Given the description of an element on the screen output the (x, y) to click on. 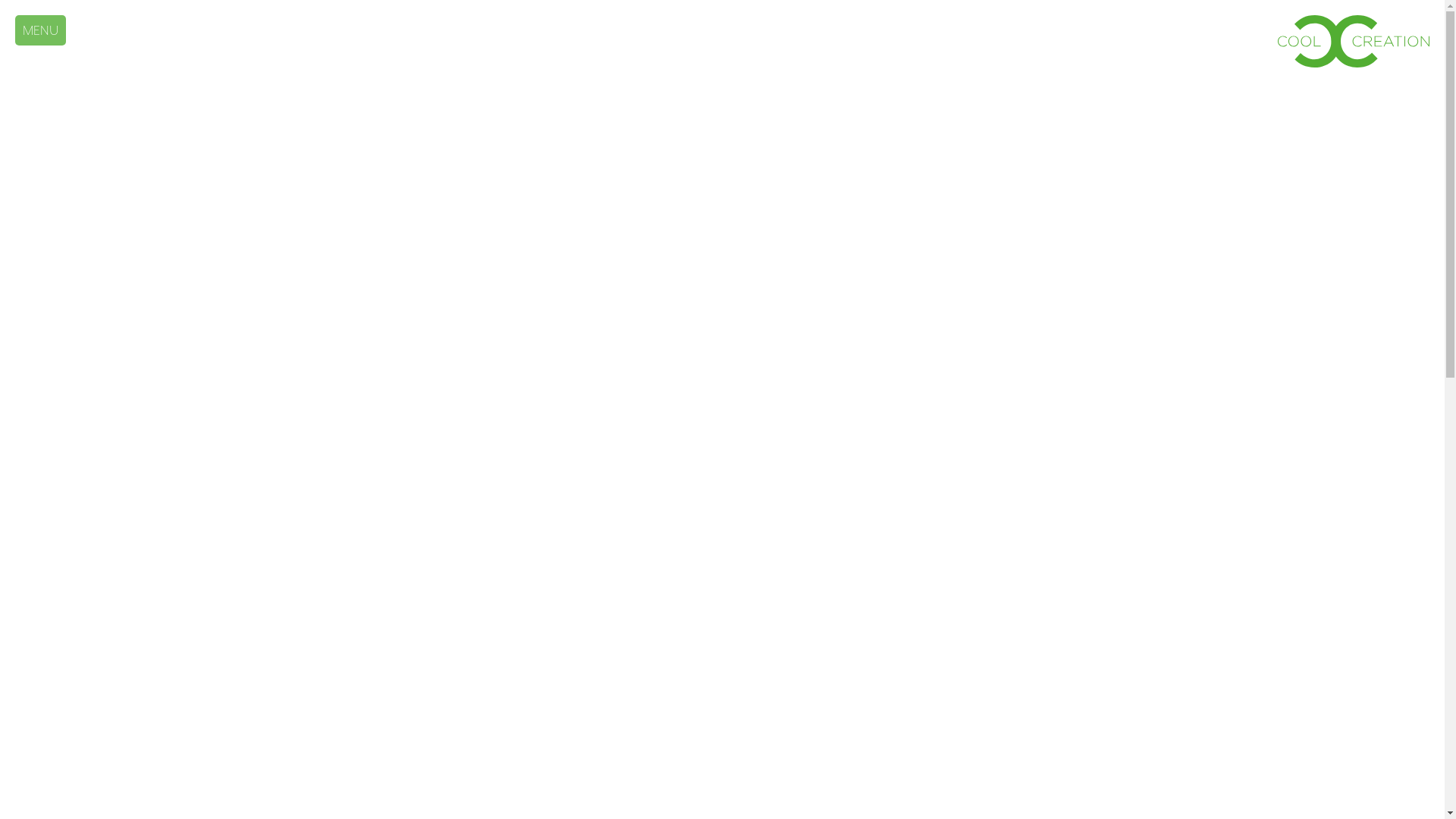
Cool Creation Element type: hover (1353, 41)
MENU Element type: text (40, 30)
